Given the description of an element on the screen output the (x, y) to click on. 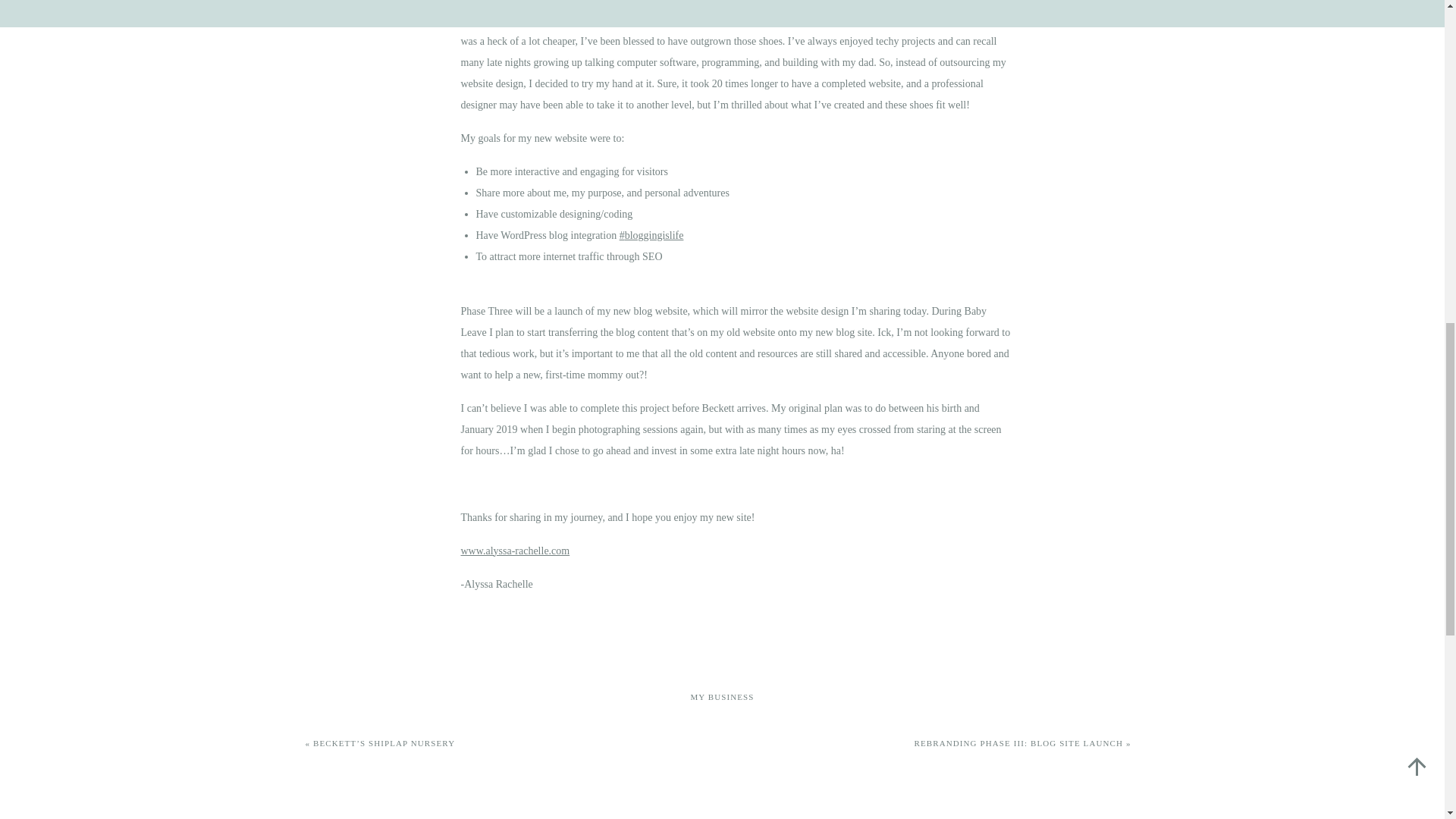
REBRANDING PHASE III: BLOG SITE LAUNCH (1019, 742)
smile emoticon (515, 550)
www.alyssa-rachelle.com (515, 550)
smile emoticon (978, 103)
MY BUSINESS (722, 696)
smile emoticon (765, 516)
